Given the description of an element on the screen output the (x, y) to click on. 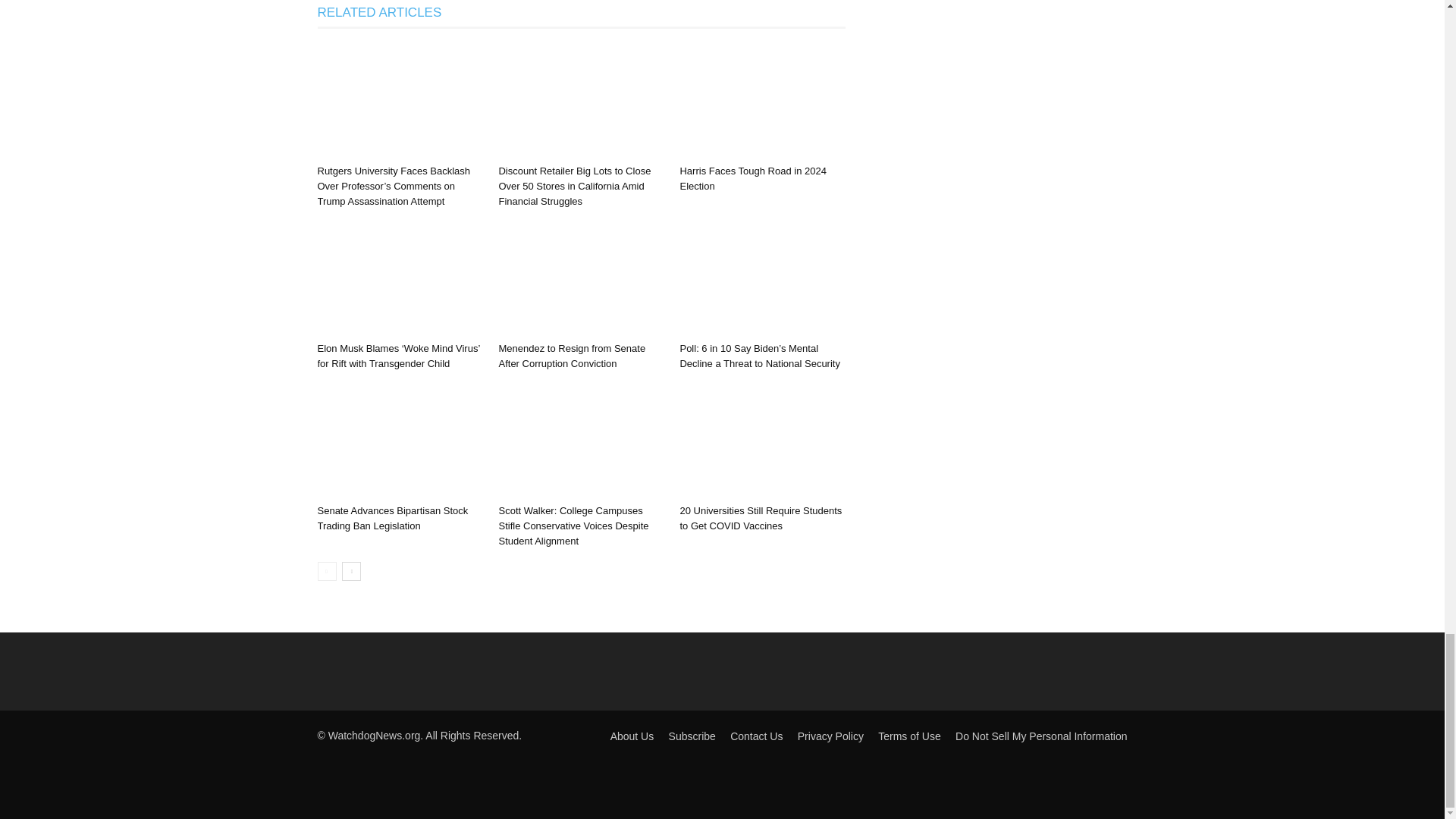
RELATED ARTICLES (379, 13)
Menendez to Resign from Senate After Corruption Conviction (571, 356)
Harris Faces Tough Road in 2024 Election (761, 101)
Harris Faces Tough Road in 2024 Election (752, 178)
